Given the description of an element on the screen output the (x, y) to click on. 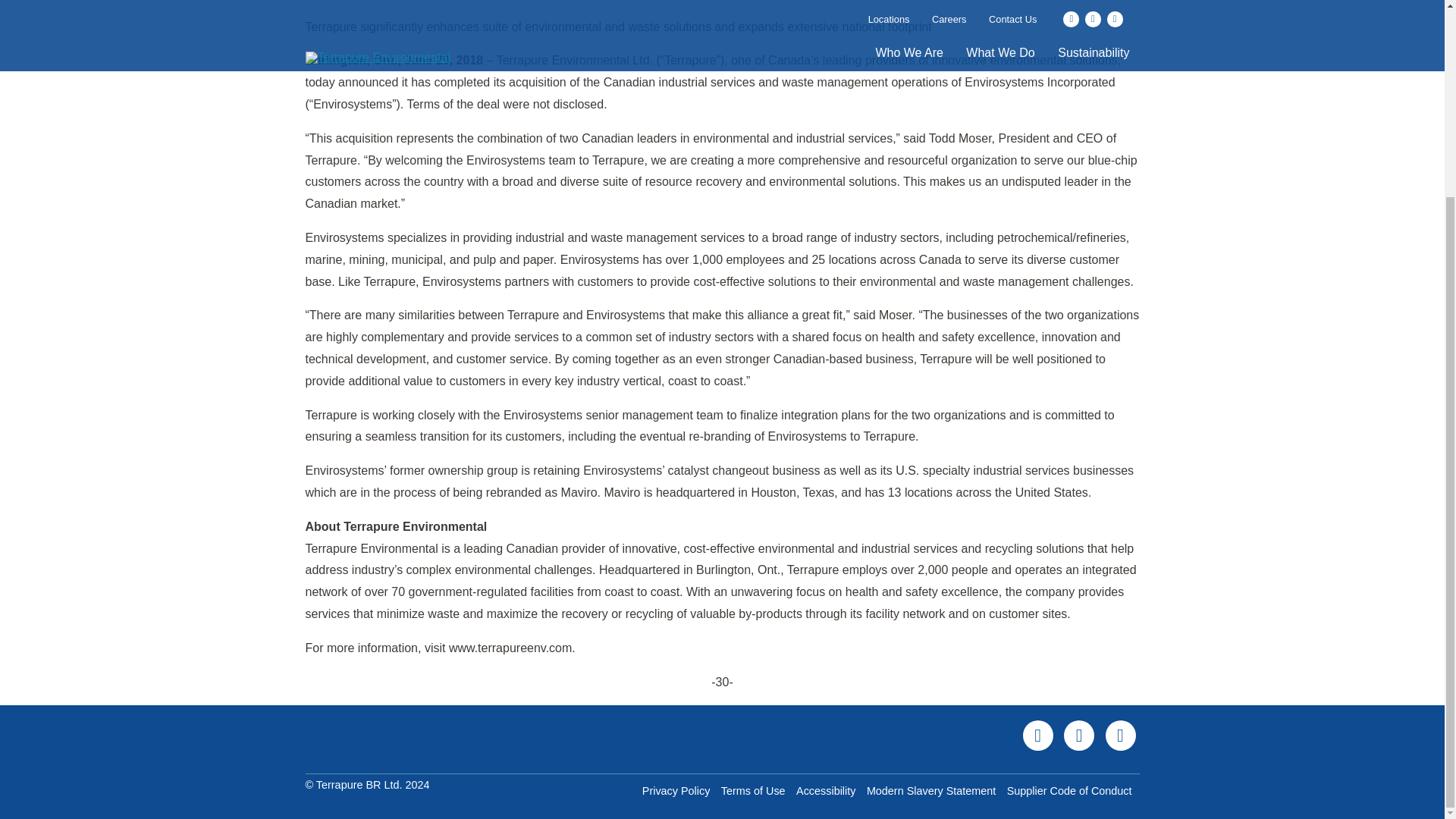
Accessibility (829, 790)
Terms of Use (756, 790)
Supplier Code of Conduct (1073, 790)
Modern Slavery Statement (934, 790)
Privacy Policy (679, 790)
